Given the description of an element on the screen output the (x, y) to click on. 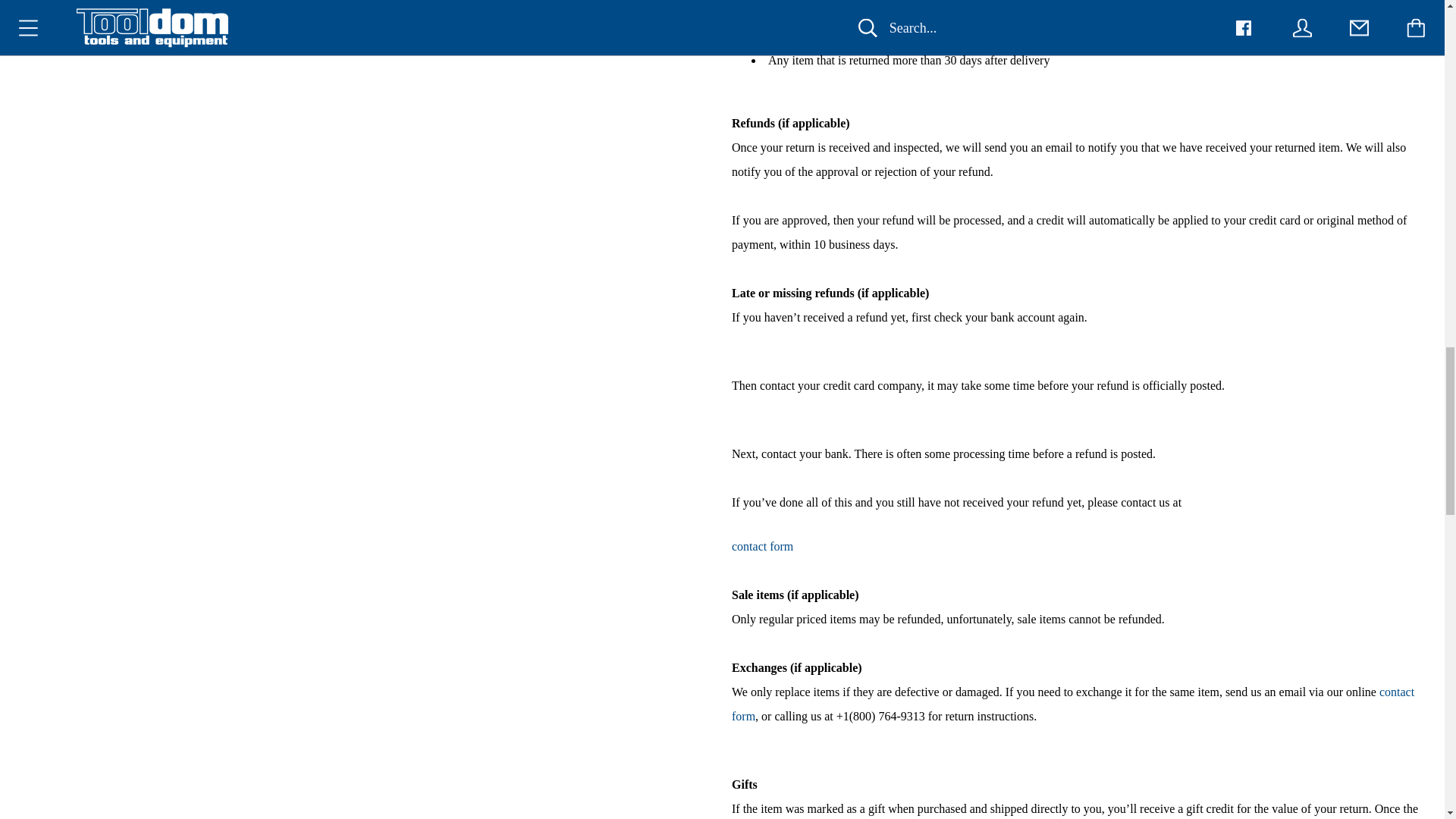
Contact-Us (1072, 703)
Contact-Us (762, 545)
